Given the description of an element on the screen output the (x, y) to click on. 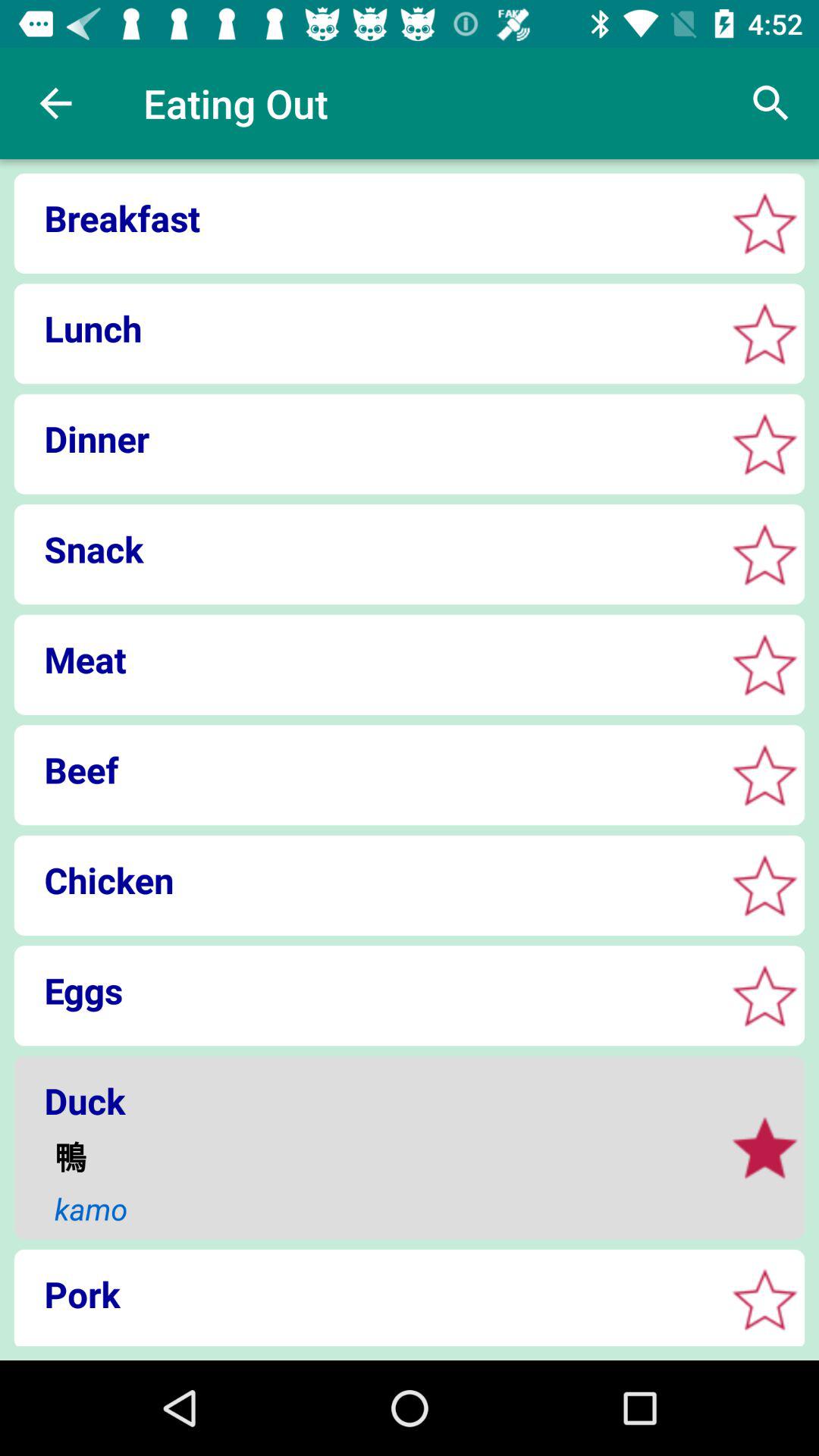
tap lunch item (364, 328)
